Given the description of an element on the screen output the (x, y) to click on. 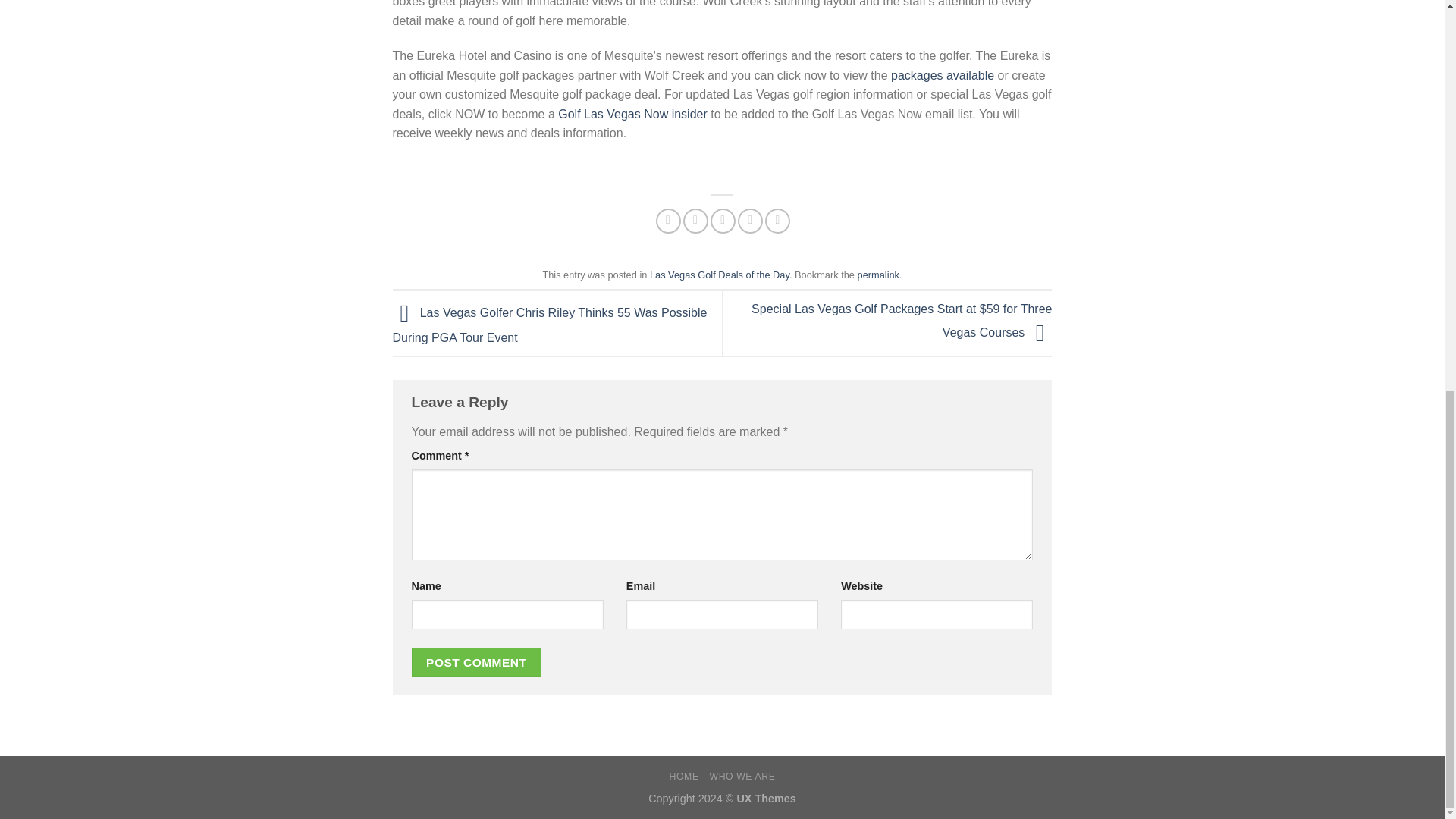
Golf Las Vegas Now insider (632, 113)
WHO WE ARE (741, 776)
Post Comment (475, 662)
Las Vegas Golf Deals of the Day (719, 274)
packages available (942, 74)
Post Comment (475, 662)
permalink (878, 274)
HOME (683, 776)
